Given the description of an element on the screen output the (x, y) to click on. 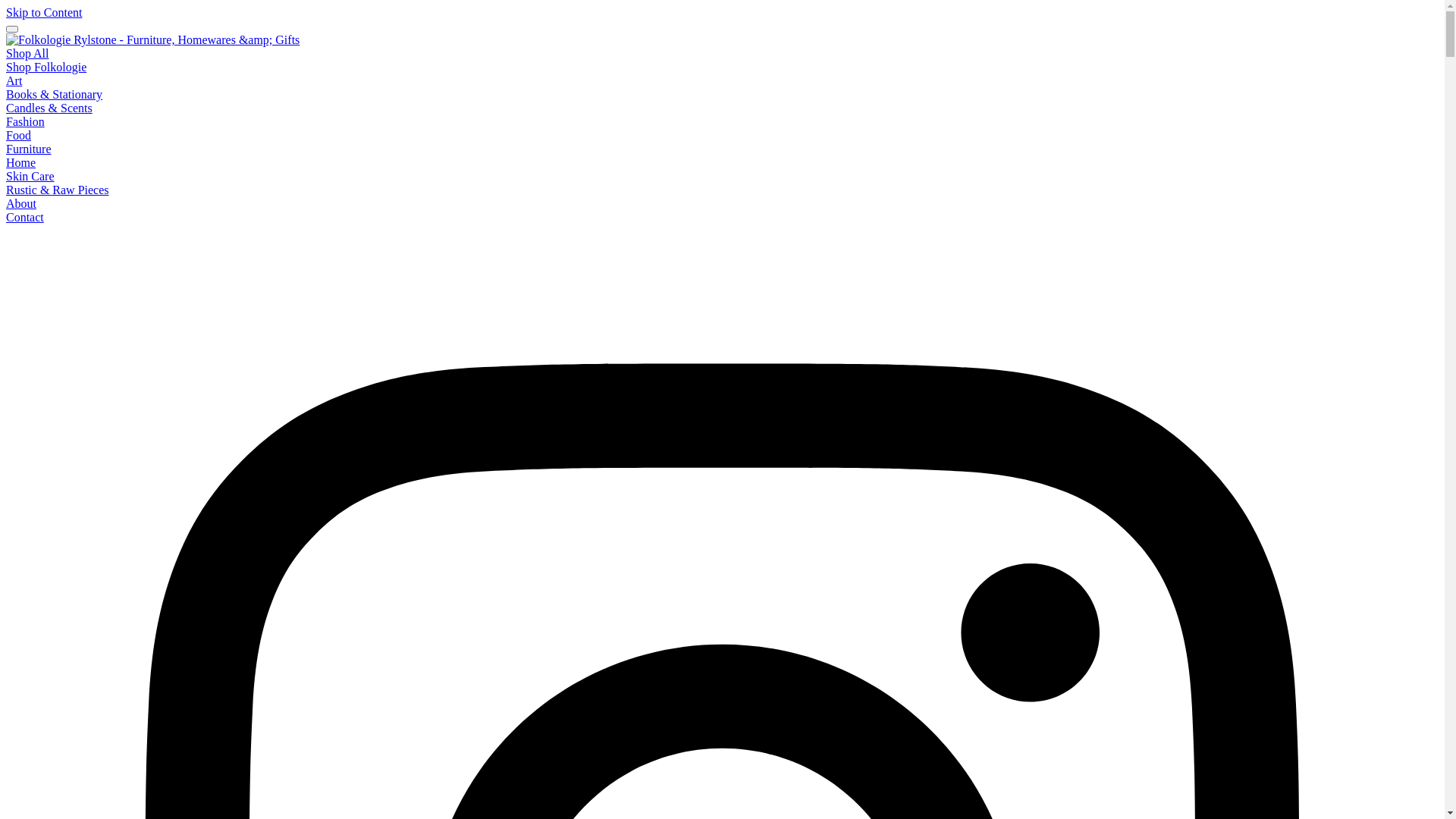
Furniture Element type: text (28, 148)
Skip to Content Element type: text (43, 12)
About Element type: text (21, 203)
Contact Element type: text (24, 216)
Home Element type: text (20, 162)
Books & Stationary Element type: text (54, 93)
Shop Folkologie Element type: text (46, 66)
Food Element type: text (18, 134)
Skin Care Element type: text (30, 175)
Shop All Element type: text (27, 53)
Fashion Element type: text (25, 121)
Art Element type: text (13, 80)
Candles & Scents Element type: text (49, 107)
Rustic & Raw Pieces Element type: text (57, 189)
